Given the description of an element on the screen output the (x, y) to click on. 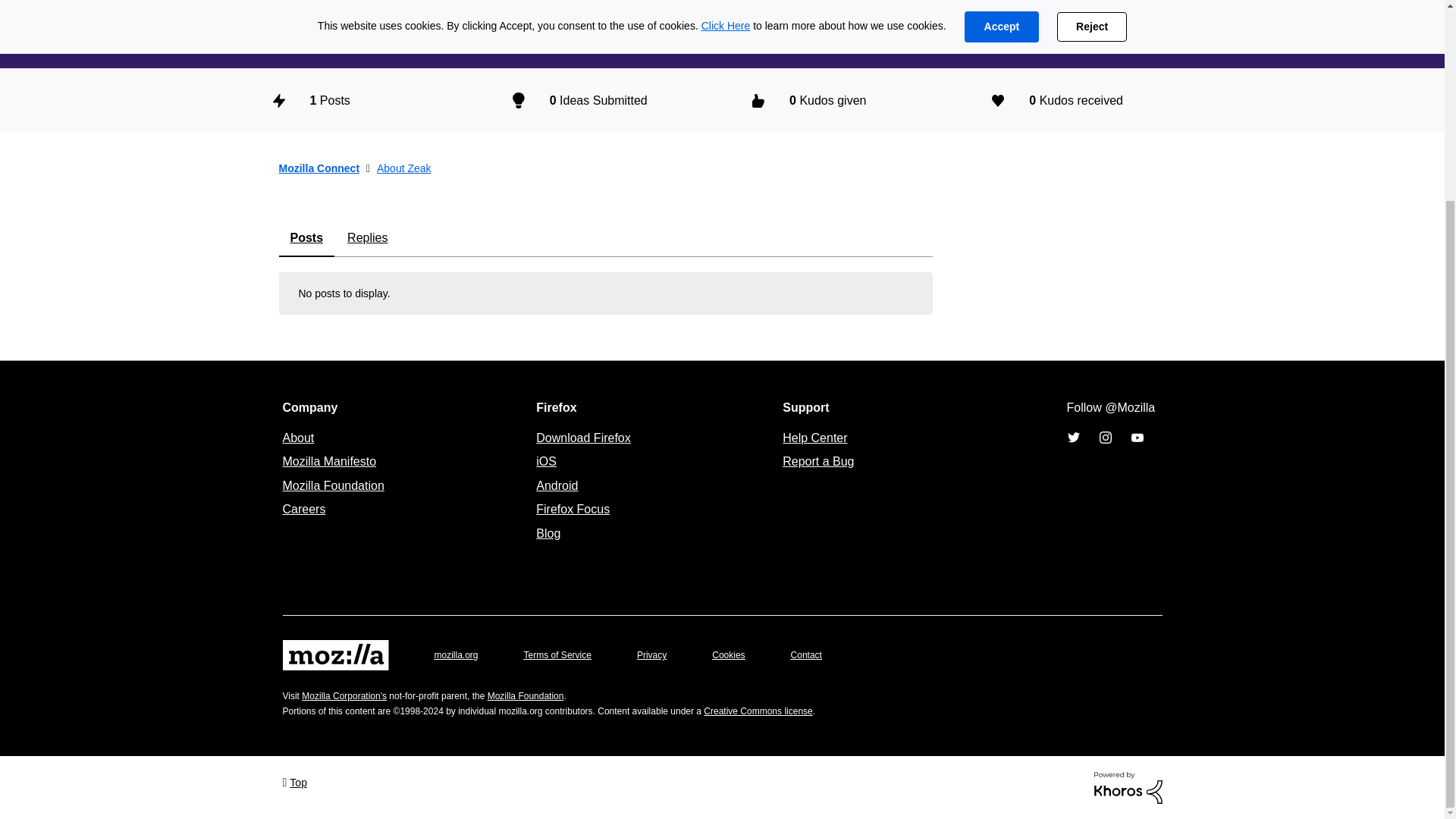
Instagram (1104, 437)
Cookies (727, 655)
Report a Bug (818, 461)
Blog (547, 533)
Youtube (1135, 437)
Mozilla Foundation (333, 485)
Careers (303, 508)
Replies (367, 238)
About (298, 437)
Firefox Focus (572, 508)
Twitter (1072, 437)
mozilla.org (455, 655)
Top (293, 781)
Download Firefox (582, 437)
Android (556, 485)
